Given the description of an element on the screen output the (x, y) to click on. 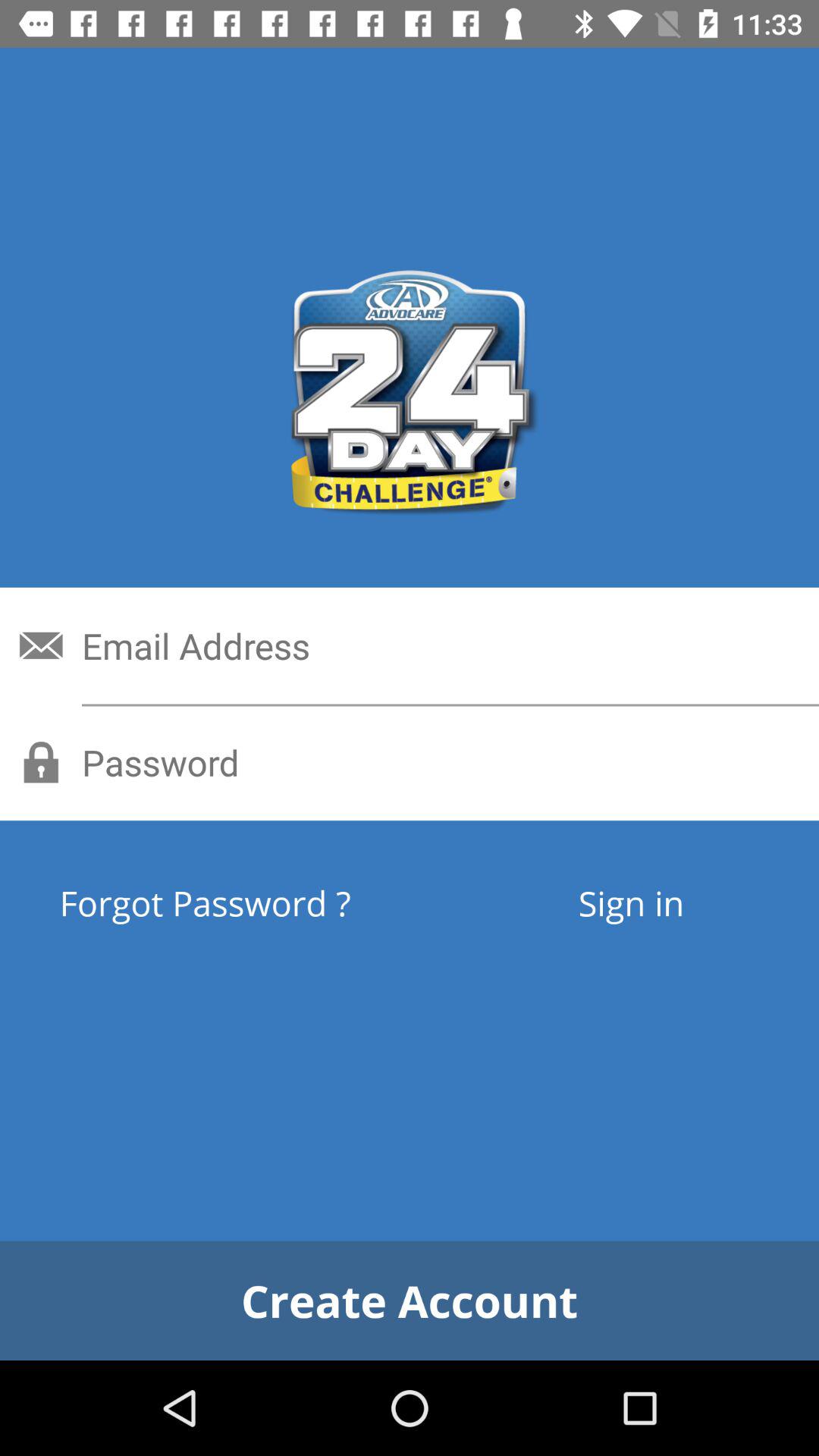
turn off icon on the right (631, 902)
